Given the description of an element on the screen output the (x, y) to click on. 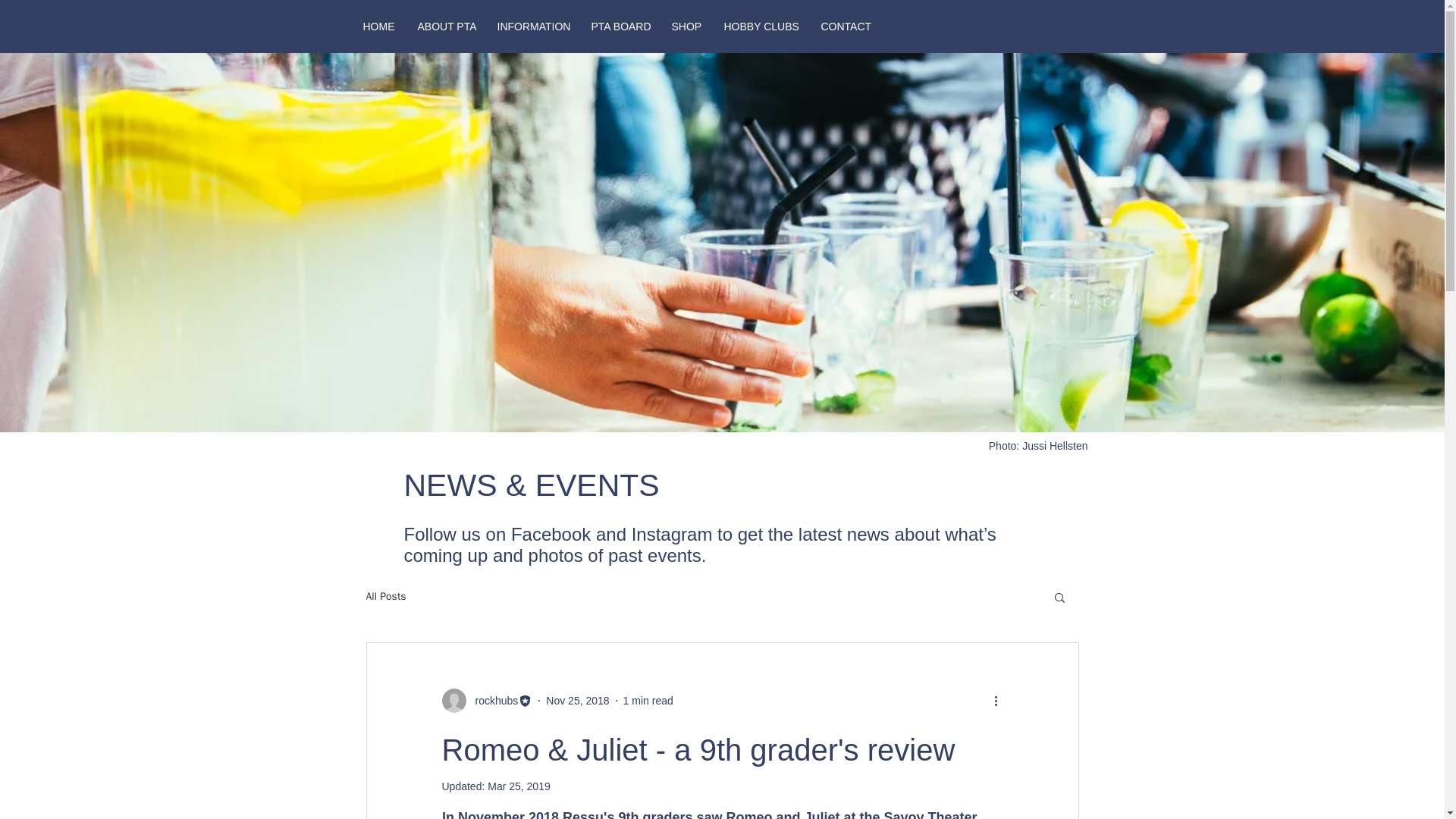
SHOP (685, 26)
Nov 25, 2018 (577, 700)
HOBBY CLUBS (761, 26)
HOME (379, 26)
INFORMATION (531, 26)
1 min read (647, 700)
Mar 25, 2019 (518, 786)
PTA BOARD (619, 26)
ABOUT PTA (446, 26)
All Posts (385, 596)
rockhubs (491, 700)
CONTACT (844, 26)
